Given the description of an element on the screen output the (x, y) to click on. 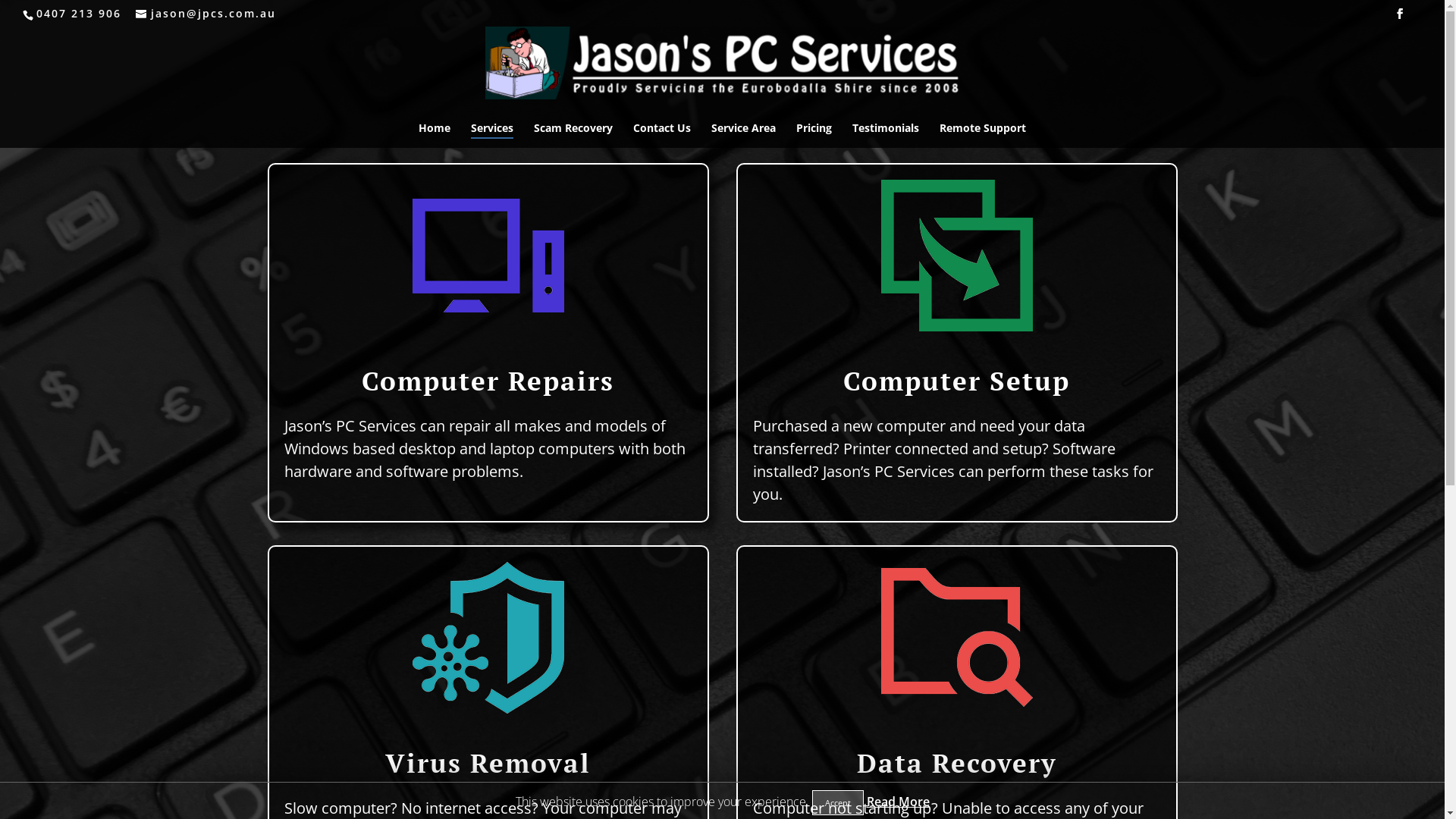
0407 213 906 Element type: text (76, 13)
Testimonials Element type: text (885, 134)
Scam Recovery Element type: text (572, 134)
Remote Support Element type: text (982, 134)
Read More Element type: text (897, 801)
Contact Us Element type: text (661, 134)
Service Area Element type: text (743, 134)
jason@jpcs.com.au Element type: text (205, 13)
Services Element type: text (491, 134)
Pricing Element type: text (813, 134)
Accept Element type: text (836, 802)
Home Element type: text (434, 134)
